Given the description of an element on the screen output the (x, y) to click on. 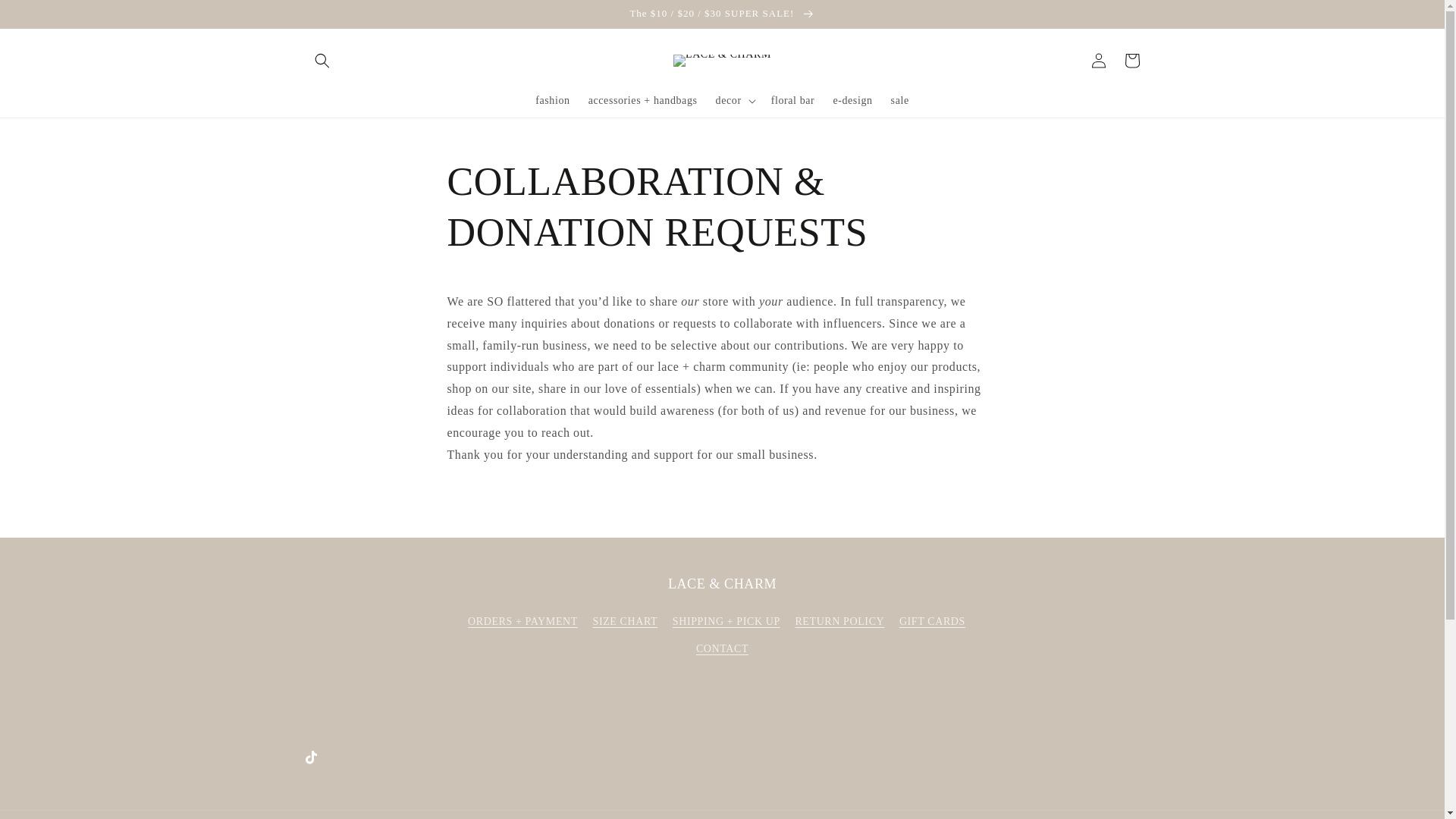
sale (900, 101)
fashion (551, 101)
Cart (1131, 60)
Skip to content (45, 16)
floral bar (792, 101)
Log in (1098, 60)
e-design (852, 101)
